Given the description of an element on the screen output the (x, y) to click on. 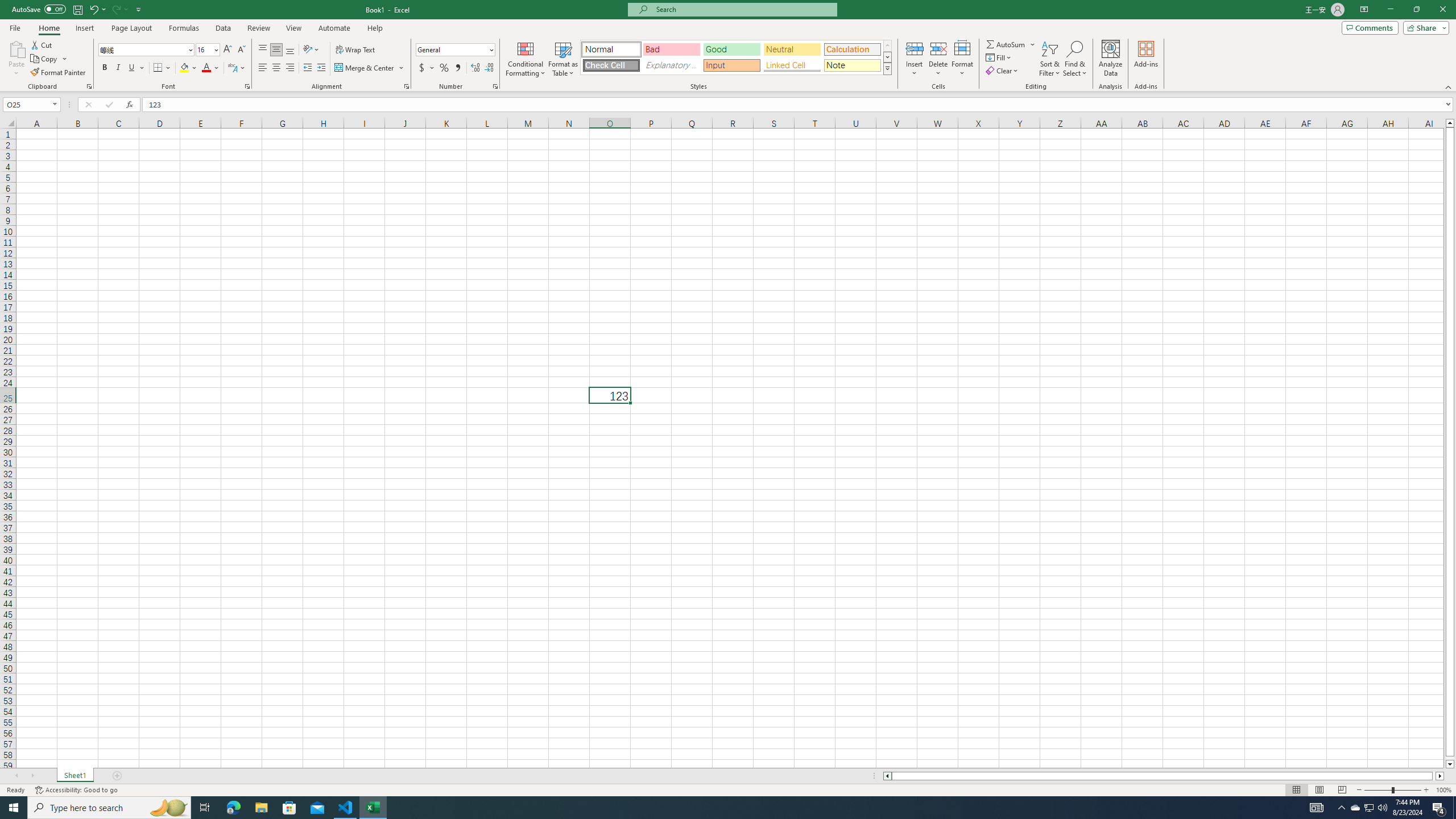
Format as Table (563, 58)
Find & Select (1075, 58)
Sort & Filter (1049, 58)
Italic (118, 67)
Analyze Data (1110, 58)
Sheet1 (74, 775)
Line up (1449, 122)
Accounting Number Format (426, 67)
Underline (136, 67)
Fill Color RGB(255, 255, 0) (183, 67)
Accounting Number Format (422, 67)
Explanatory Text (671, 65)
Format (962, 58)
